Given the description of an element on the screen output the (x, y) to click on. 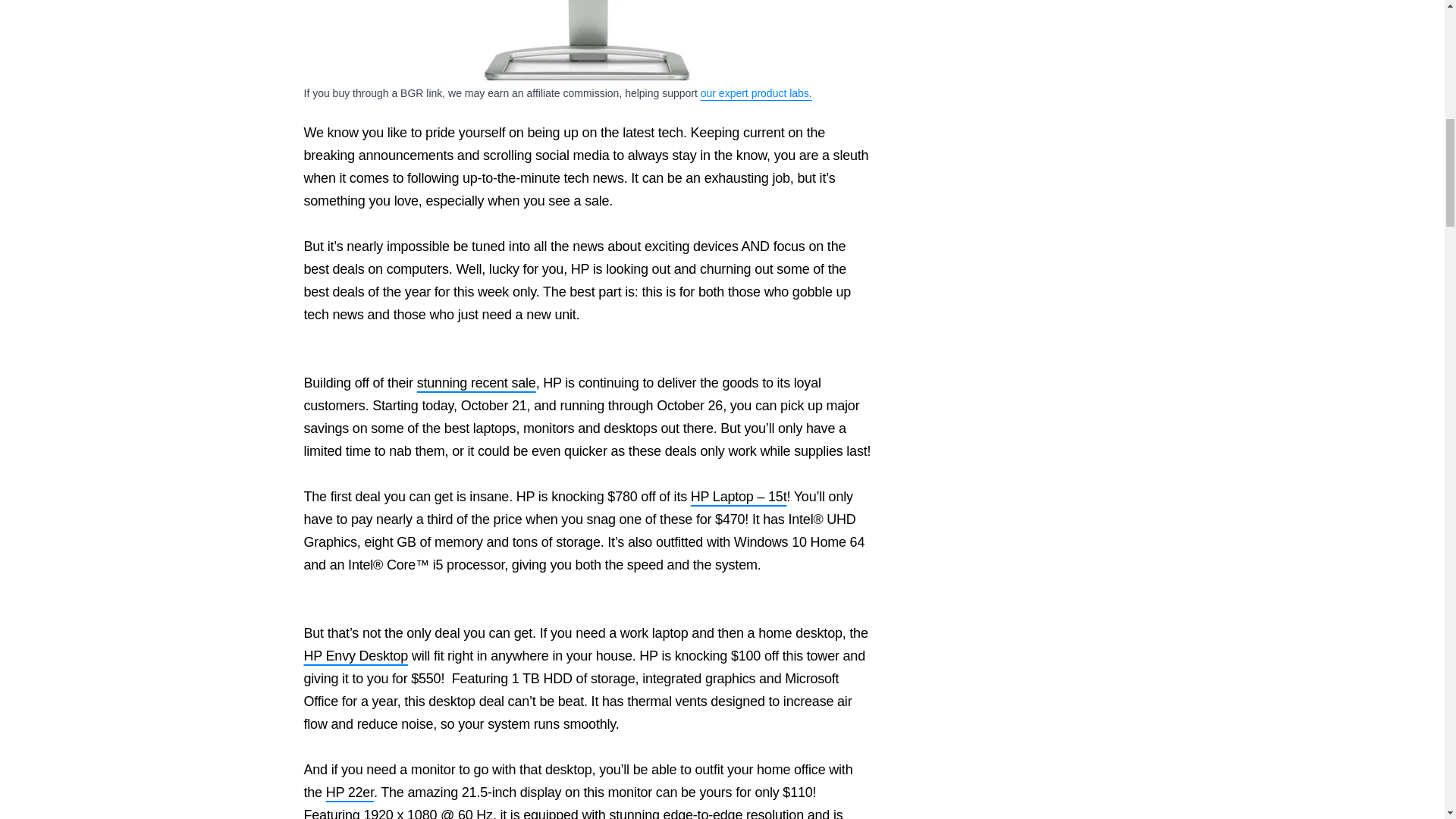
HP 22er (587, 40)
